Given the description of an element on the screen output the (x, y) to click on. 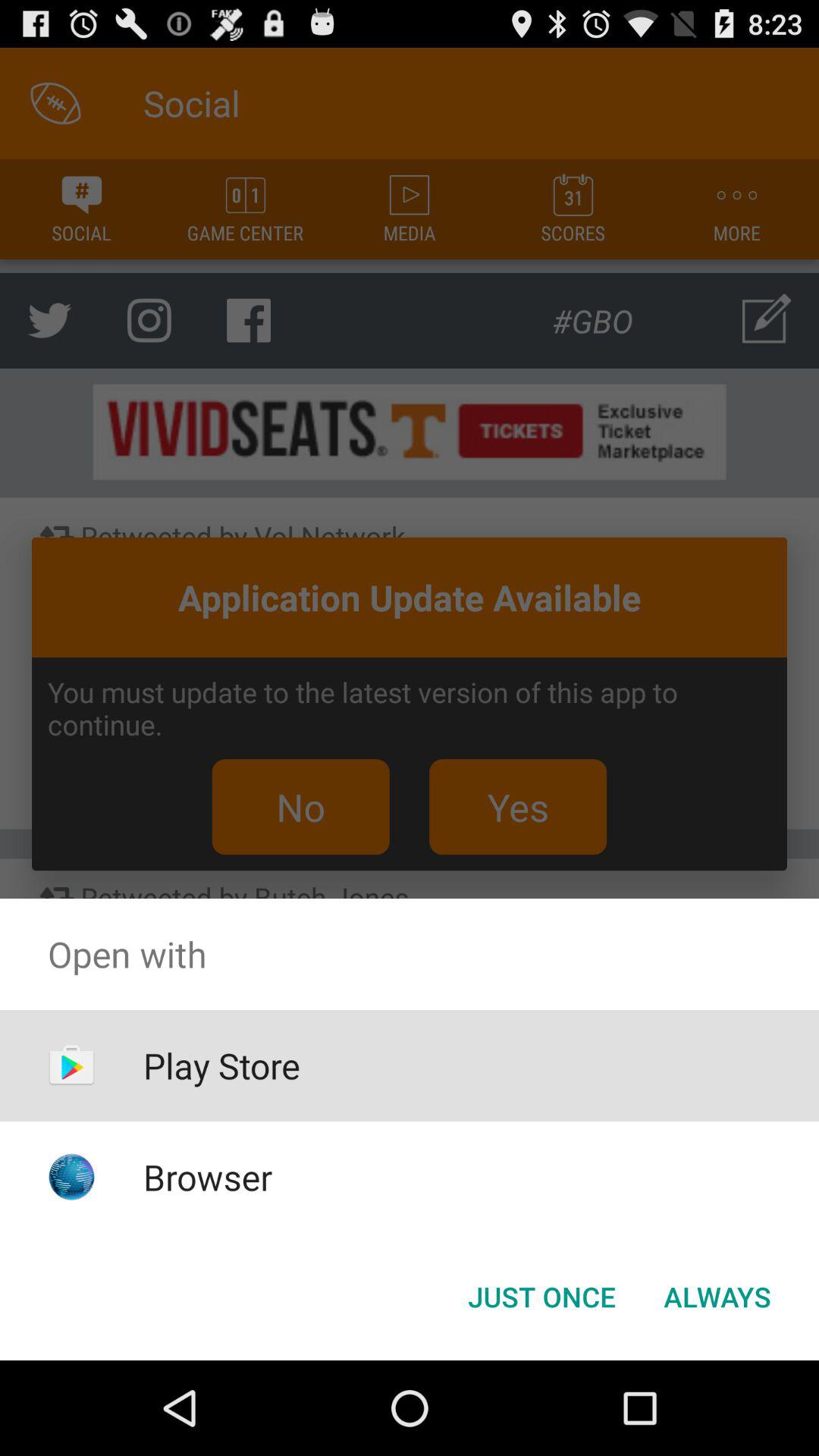
tap icon below play store item (207, 1176)
